Given the description of an element on the screen output the (x, y) to click on. 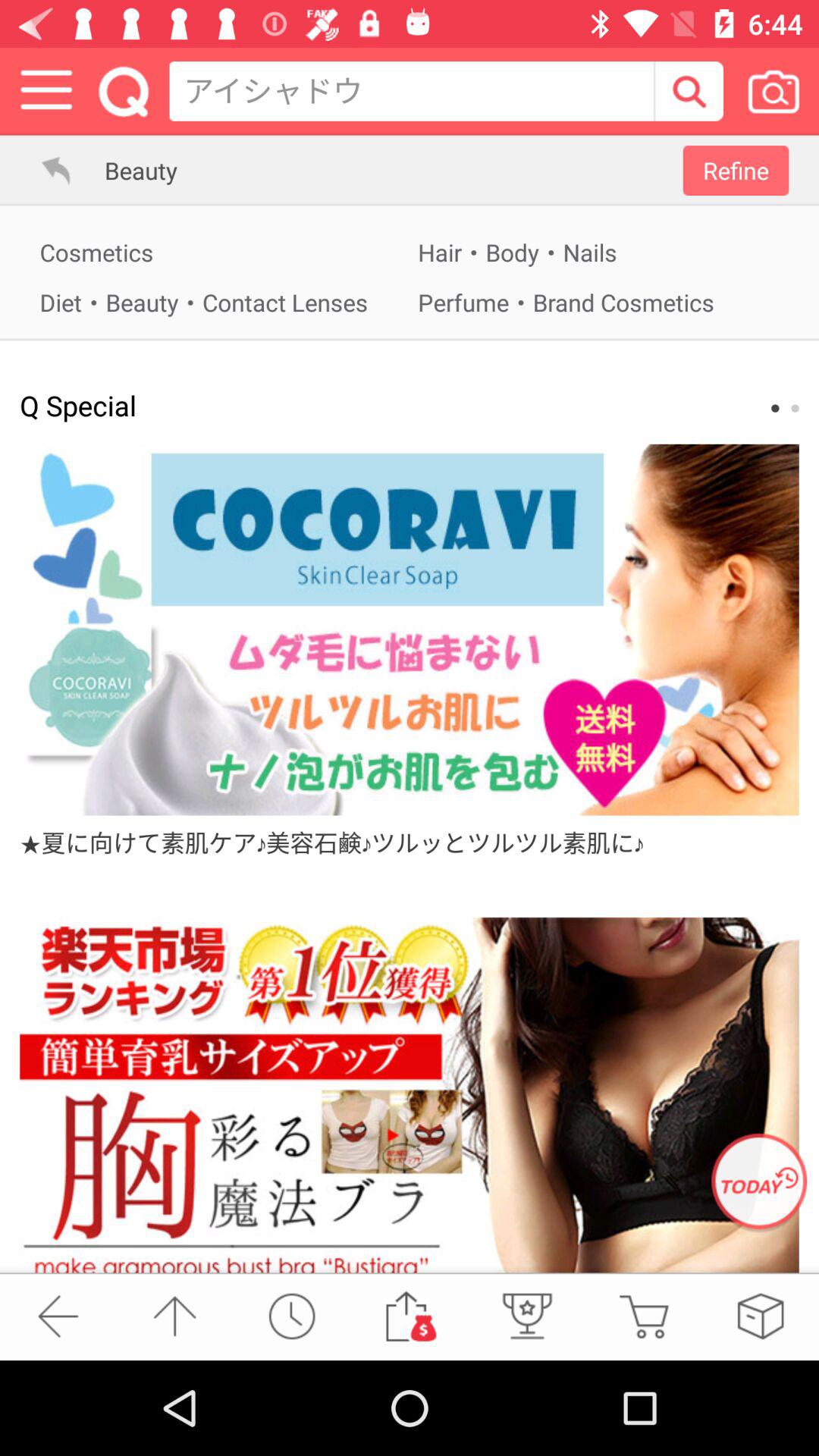
go back (47, 170)
